Given the description of an element on the screen output the (x, y) to click on. 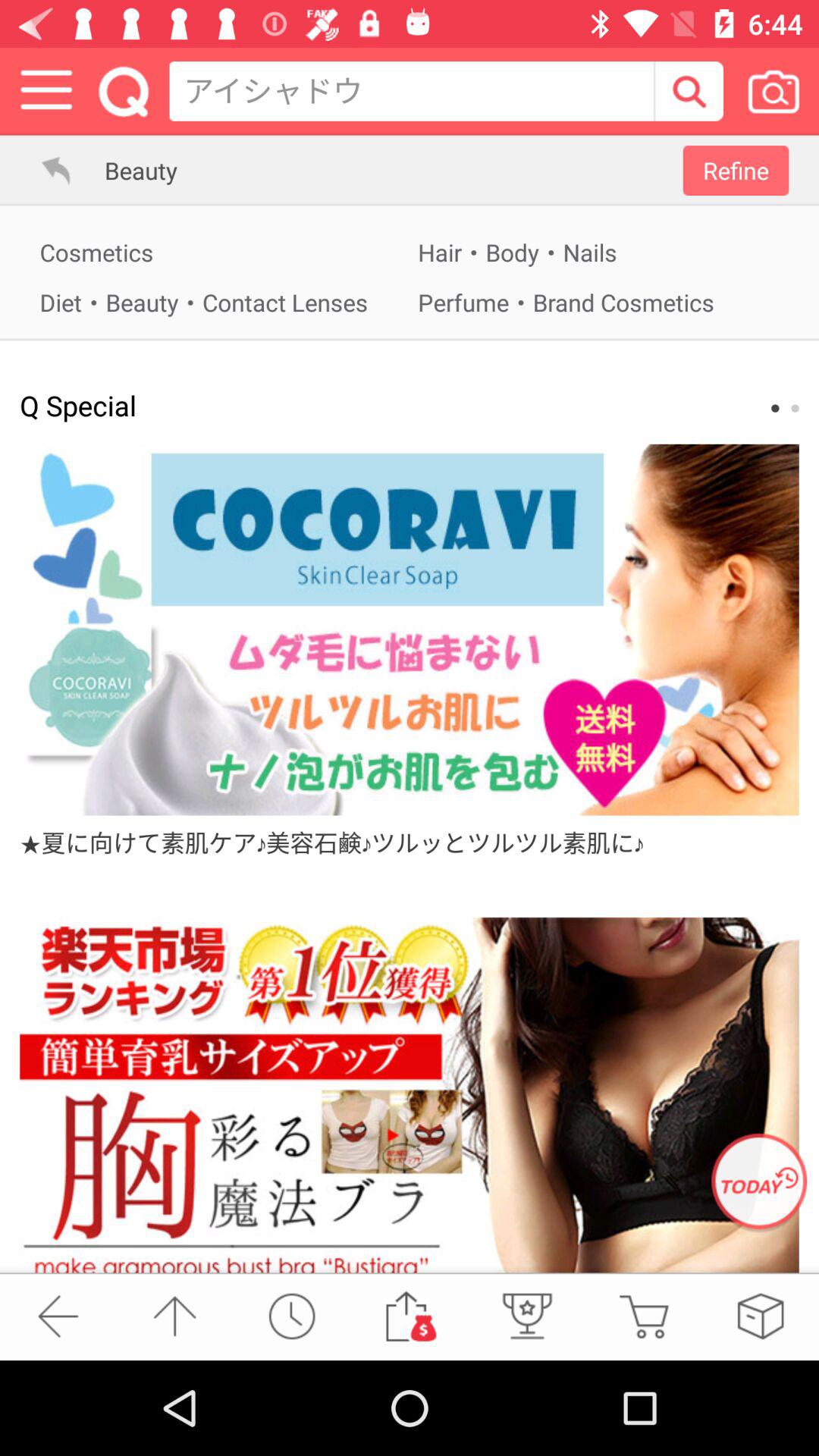
go back (47, 170)
